Given the description of an element on the screen output the (x, y) to click on. 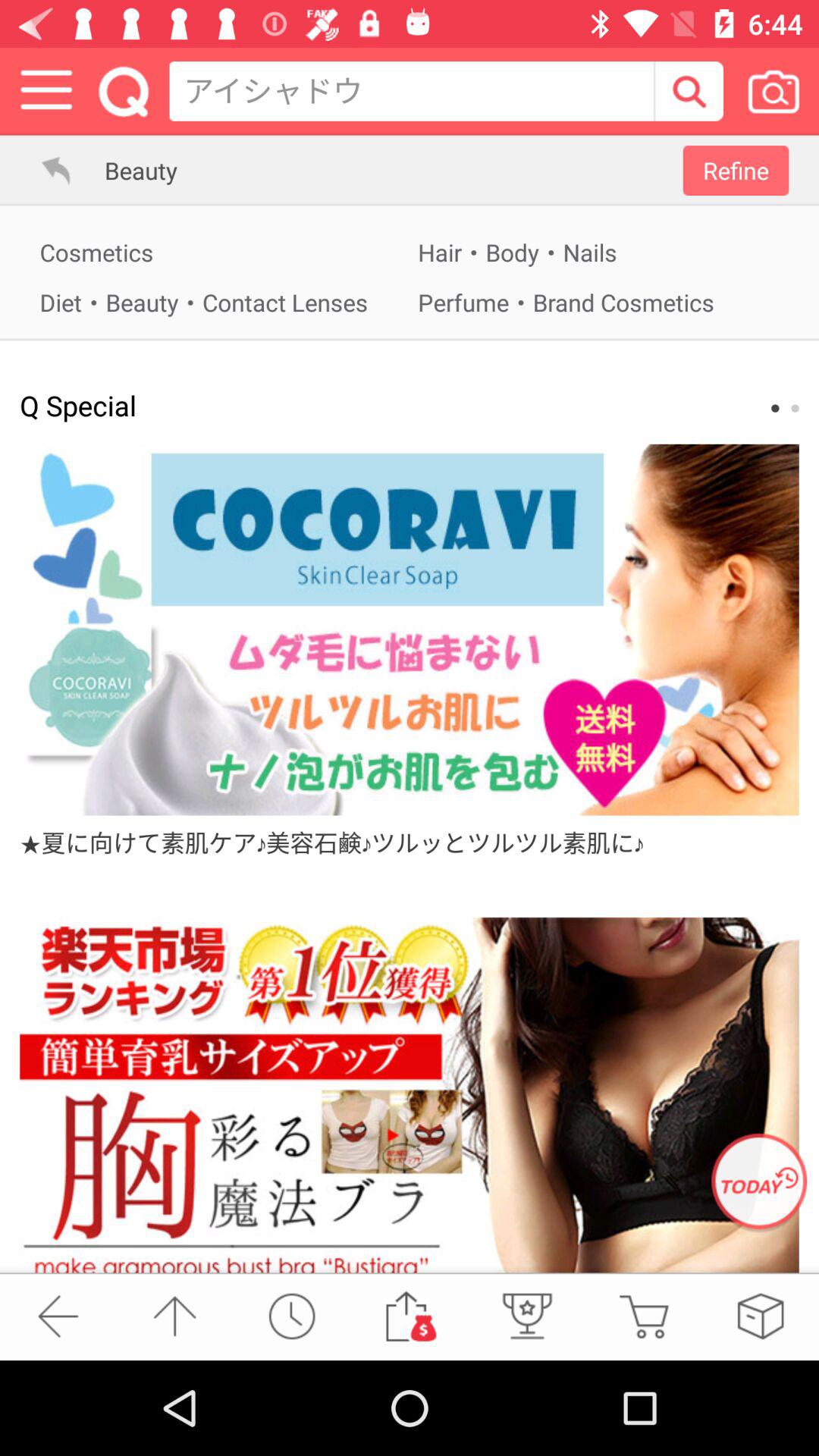
go back (47, 170)
